Given the description of an element on the screen output the (x, y) to click on. 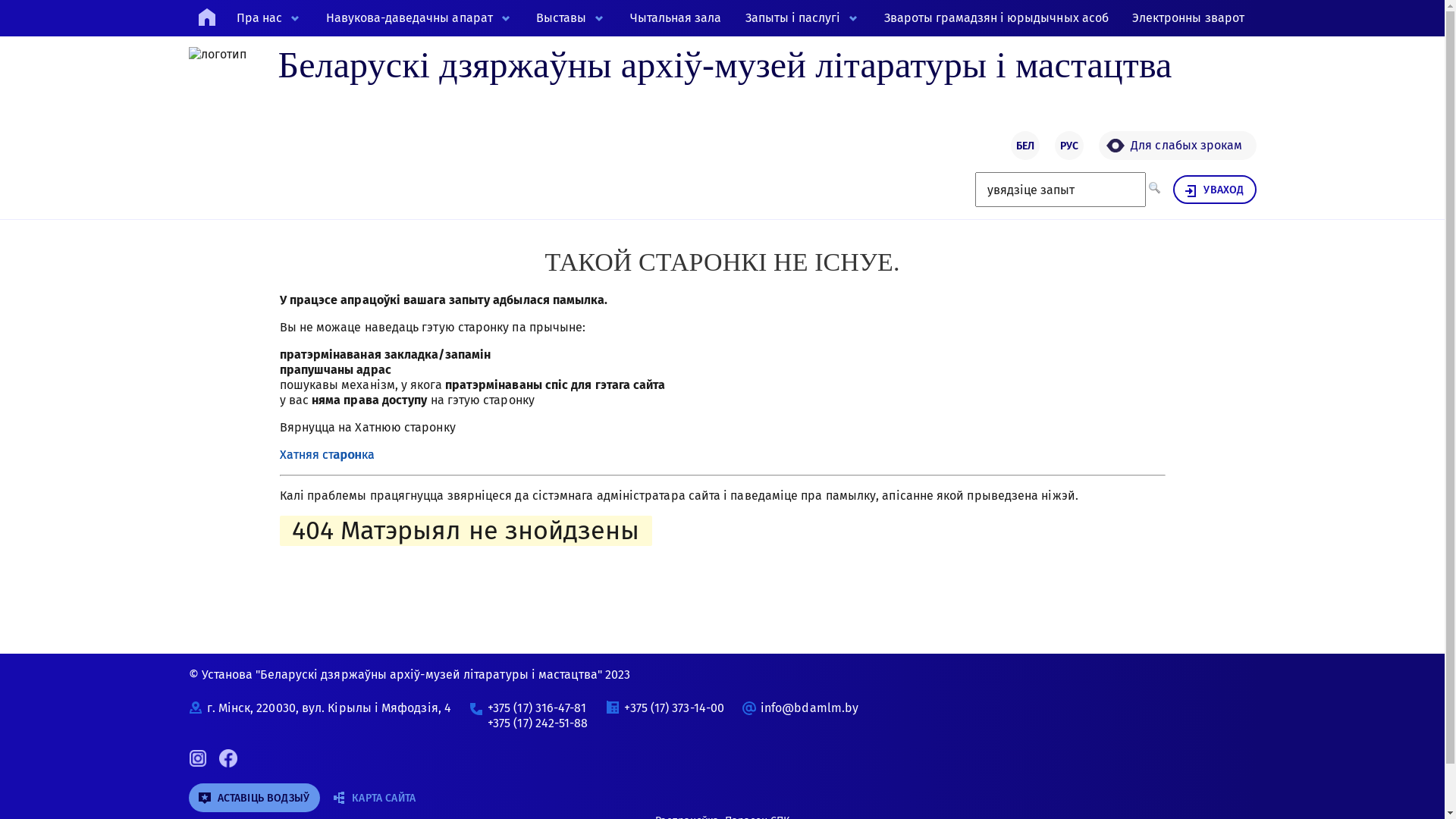
+375 (17) 242-51-88 Element type: text (537, 722)
+375 (17) 373-14-00 Element type: text (674, 707)
+375 (17) 316-47-81 Element type: text (536, 707)
info@bdamlm.by Element type: text (809, 707)
Instagram Element type: hover (197, 763)
Facebook Element type: hover (227, 763)
